Given the description of an element on the screen output the (x, y) to click on. 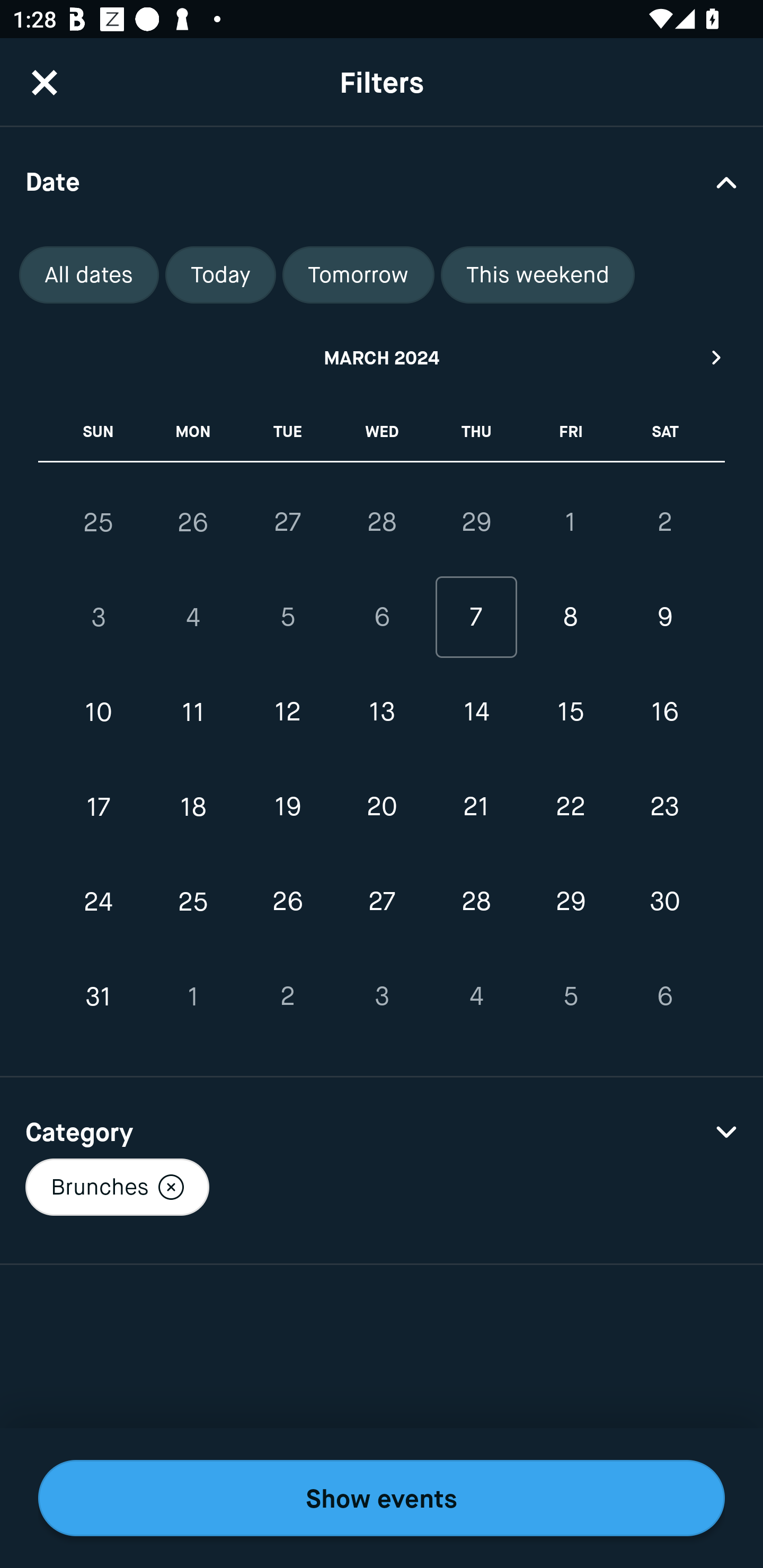
CloseButton (44, 82)
Date Drop Down Arrow (381, 181)
All dates (88, 274)
Today (220, 274)
Tomorrow (358, 274)
This weekend (537, 274)
Next (717, 357)
25 (98, 522)
26 (192, 522)
27 (287, 522)
28 (381, 522)
29 (475, 522)
1 (570, 522)
2 (664, 522)
3 (98, 617)
4 (192, 617)
5 (287, 617)
6 (381, 617)
7 (475, 617)
8 (570, 617)
9 (664, 617)
10 (98, 711)
11 (192, 711)
12 (287, 711)
13 (381, 711)
14 (475, 711)
15 (570, 711)
16 (664, 711)
17 (98, 806)
18 (192, 806)
19 (287, 806)
20 (381, 806)
21 (475, 806)
22 (570, 806)
23 (664, 806)
24 (98, 901)
25 (192, 901)
26 (287, 901)
27 (381, 901)
28 (475, 901)
29 (570, 901)
30 (664, 901)
31 (98, 996)
1 (192, 996)
2 (287, 996)
3 (381, 996)
4 (475, 996)
5 (570, 996)
6 (664, 996)
Brunches Localized description (117, 1186)
Show events (381, 1497)
